Given the description of an element on the screen output the (x, y) to click on. 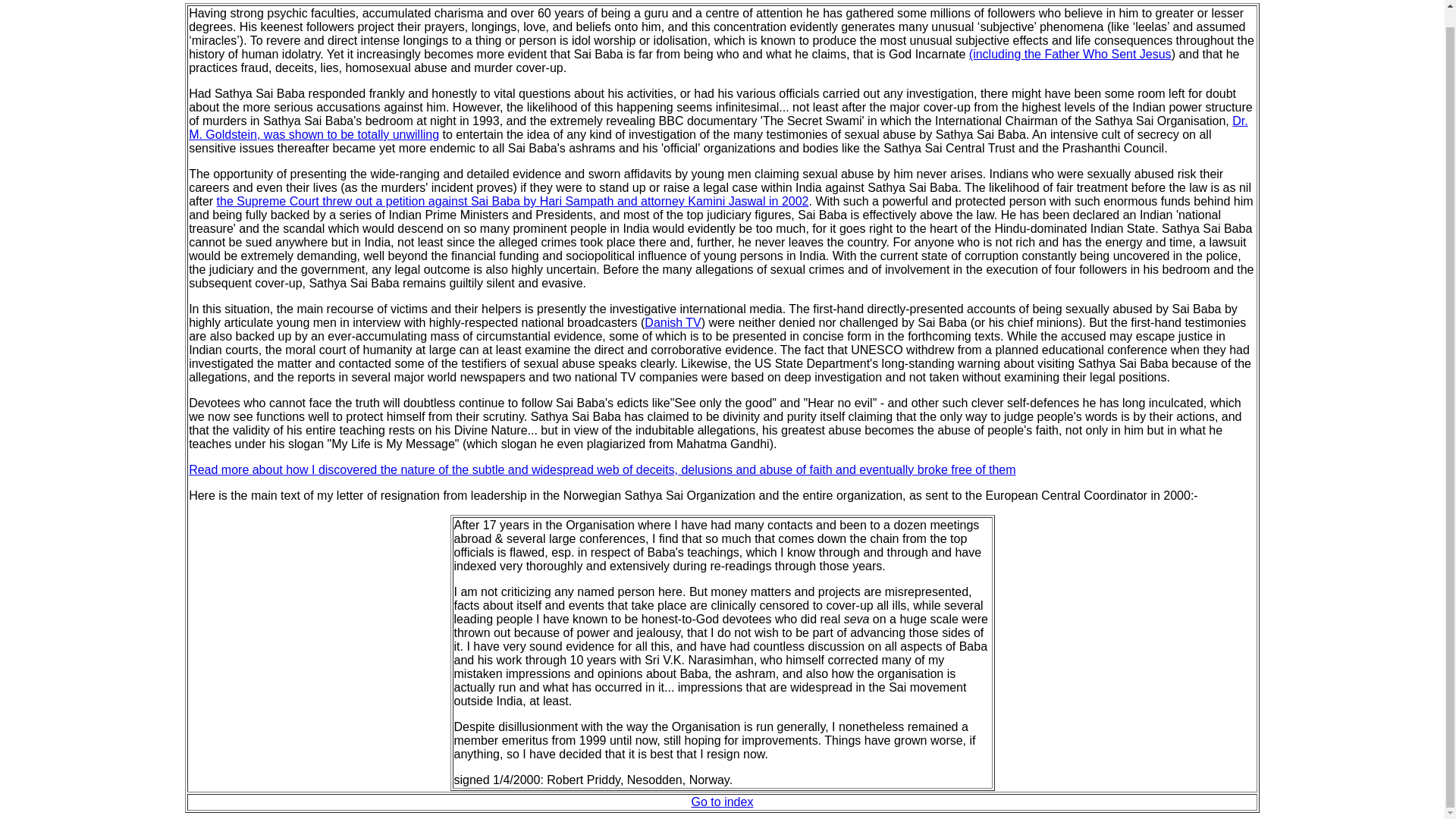
Dr. M. Goldstein, was shown to be totally unwilling (718, 127)
Go to index (722, 801)
Danish TV (672, 322)
